Given the description of an element on the screen output the (x, y) to click on. 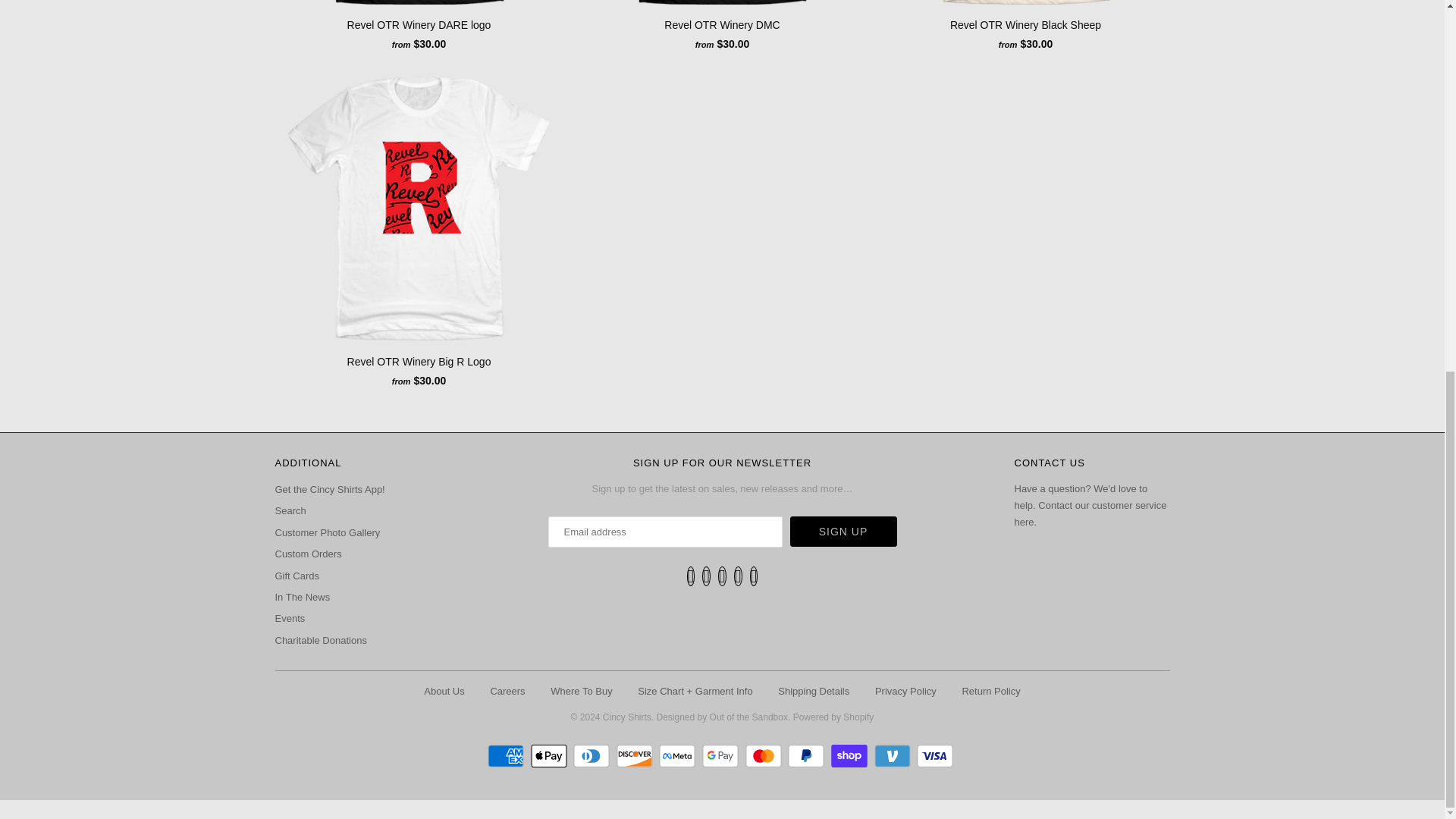
Meta Pay (678, 755)
Google Pay (721, 755)
Cincy Shirts on Instagram (737, 576)
Visa (936, 755)
Sign Up (843, 531)
Mastercard (765, 755)
Diners Club (592, 755)
Discover (635, 755)
Cincy Shirts on Twitter (691, 576)
Apple Pay (550, 755)
American Express (507, 755)
Venmo (893, 755)
Email Cincy Shirts (753, 576)
PayPal (807, 755)
Frequently Asked Questions (1090, 505)
